Given the description of an element on the screen output the (x, y) to click on. 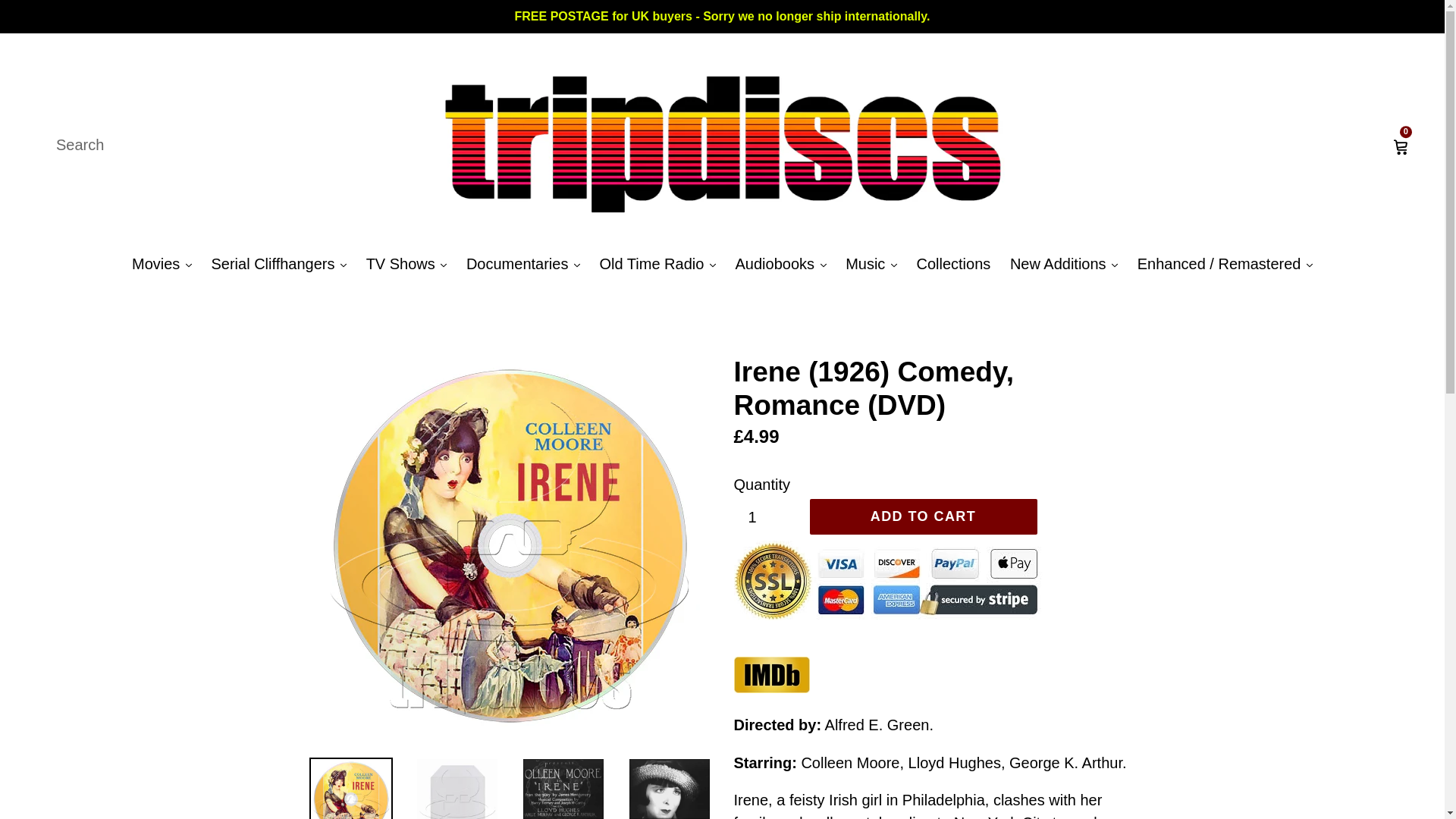
1 (767, 516)
